Given the description of an element on the screen output the (x, y) to click on. 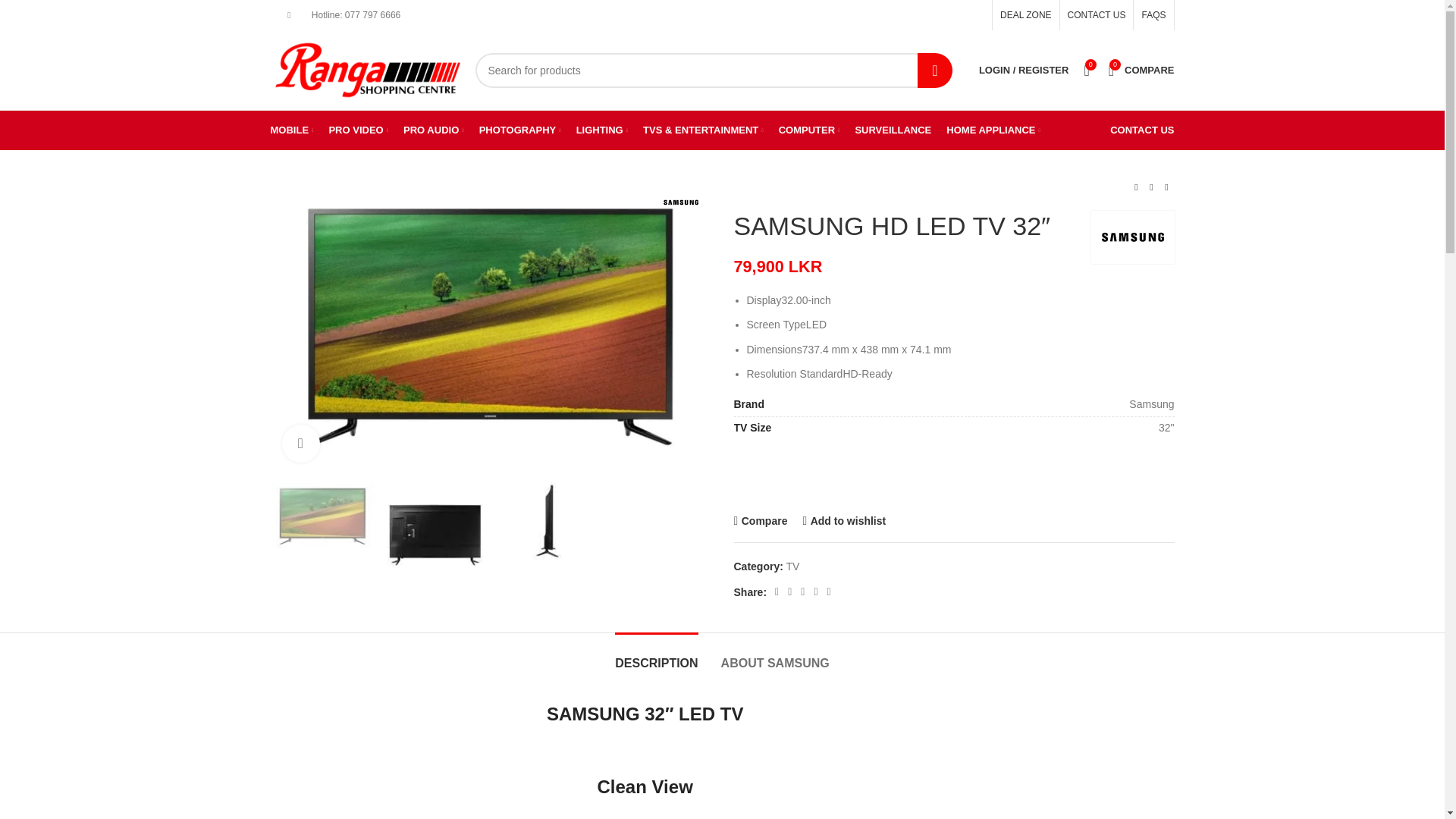
Search for products (713, 70)
My account (1023, 69)
Compare products (1141, 69)
DEAL ZONE (1025, 15)
CONTACT US (1096, 15)
MOBILE (291, 130)
SEARCH (934, 70)
PRO VIDEO (358, 130)
